Given the description of an element on the screen output the (x, y) to click on. 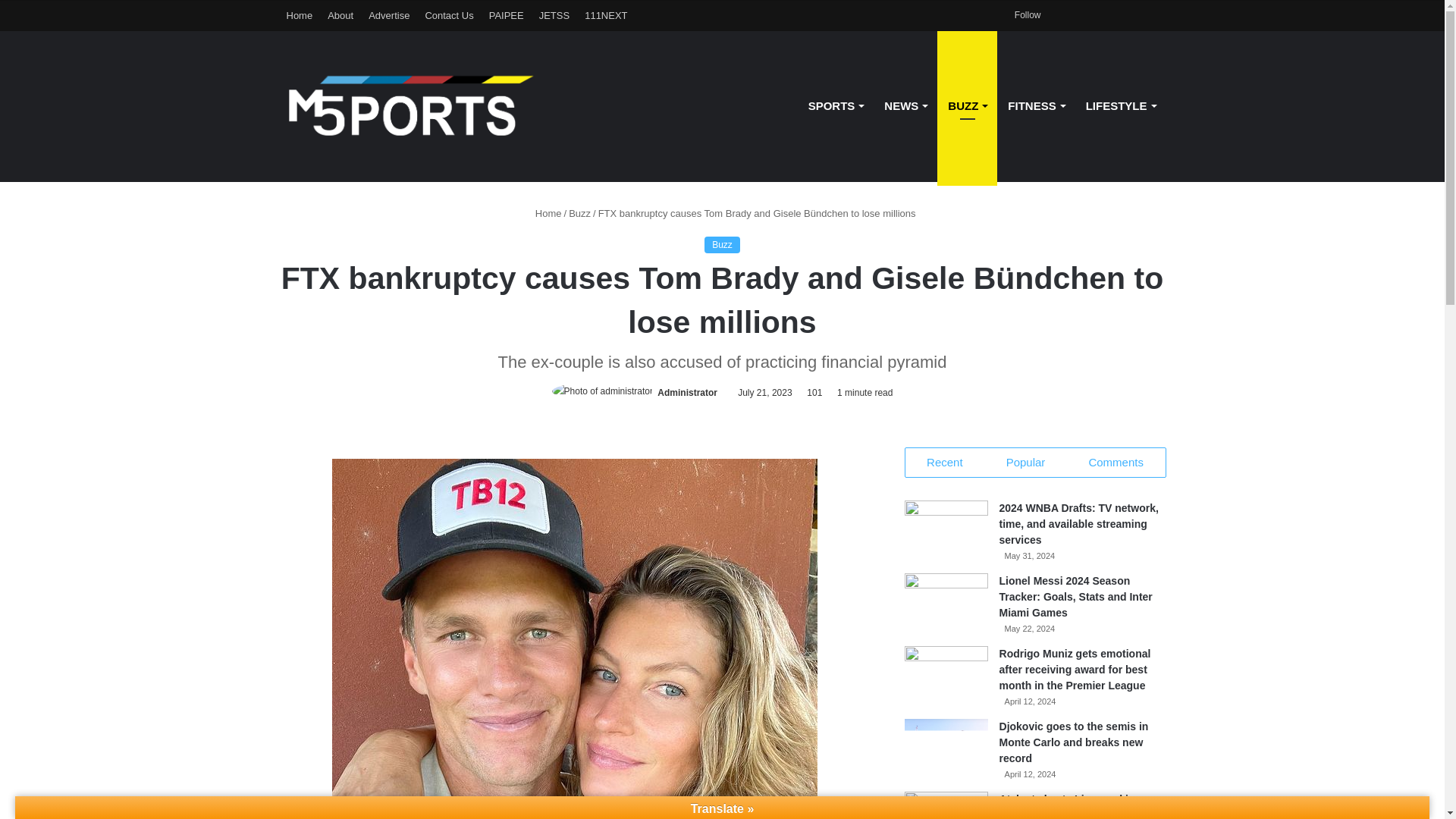
Buy now! (553, 15)
Home (299, 15)
M5PORTS (411, 105)
JETSS (553, 15)
PAIPEE (506, 15)
Advertise (388, 15)
Follow (1021, 15)
Administrator (687, 392)
Contact Us (448, 15)
About (340, 15)
